Given the description of an element on the screen output the (x, y) to click on. 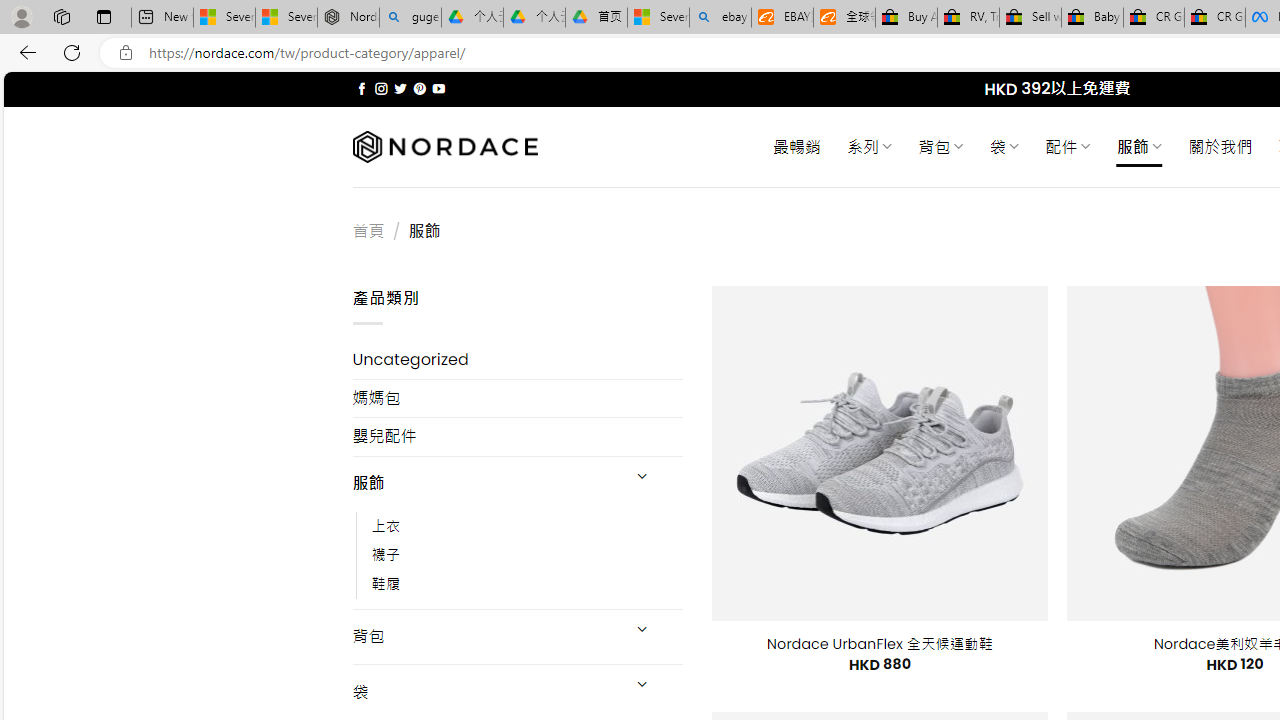
guge yunpan - Search (410, 17)
Buy Auto Parts & Accessories | eBay (905, 17)
